Given the description of an element on the screen output the (x, y) to click on. 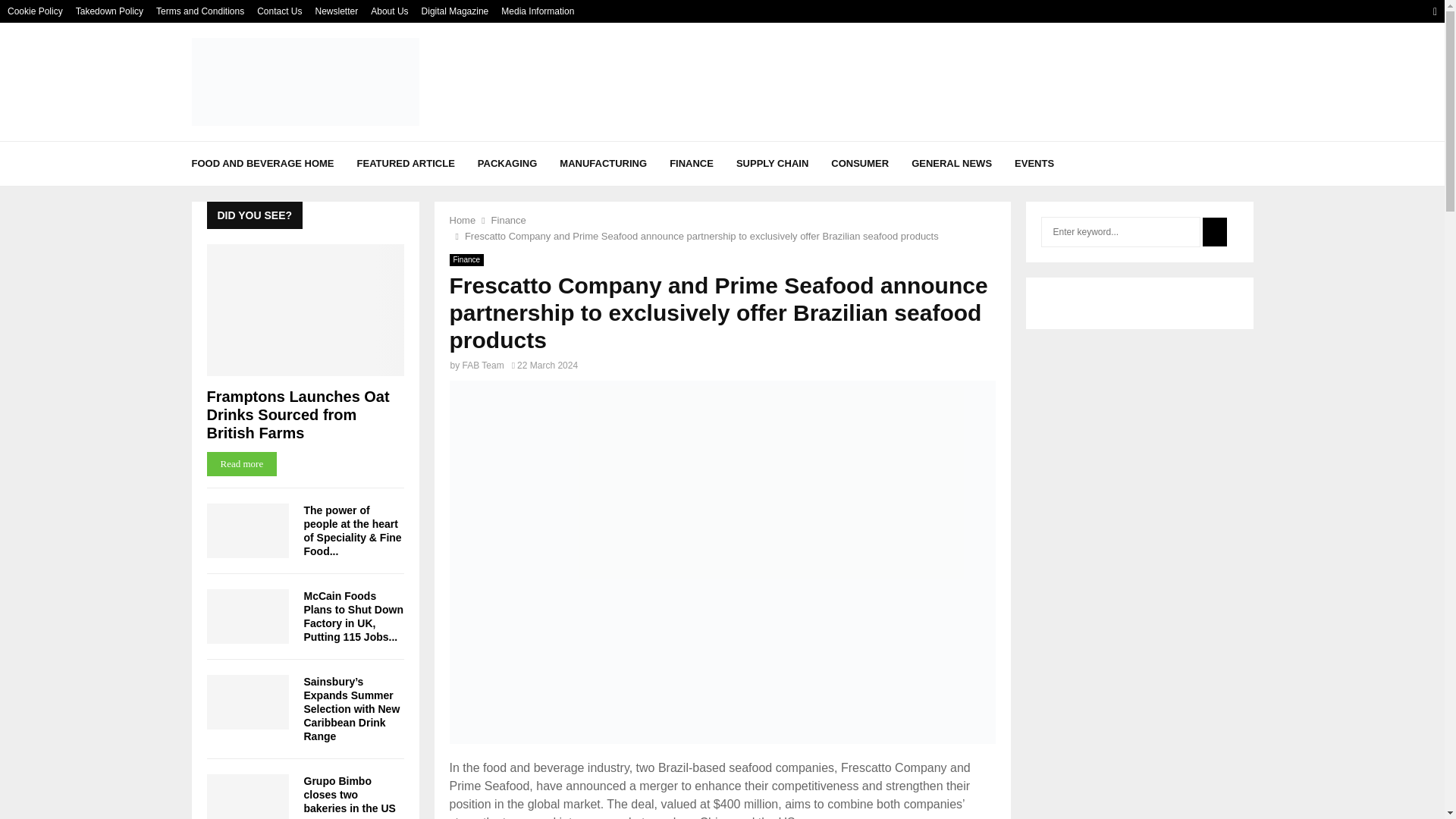
SUPPLY CHAIN (772, 163)
MANUFACTURING (602, 163)
Finance (465, 259)
Takedown Policy (108, 11)
FEATURED ARTICLE (405, 163)
Home (462, 220)
Cookie Policy (34, 11)
PACKAGING (507, 163)
Media Information (536, 11)
CONSUMER (859, 163)
FAB Team (483, 365)
Contact Us (279, 11)
Terms and Conditions (199, 11)
Framptons Launches Oat Drinks Sourced from British Farms (304, 309)
